Given the description of an element on the screen output the (x, y) to click on. 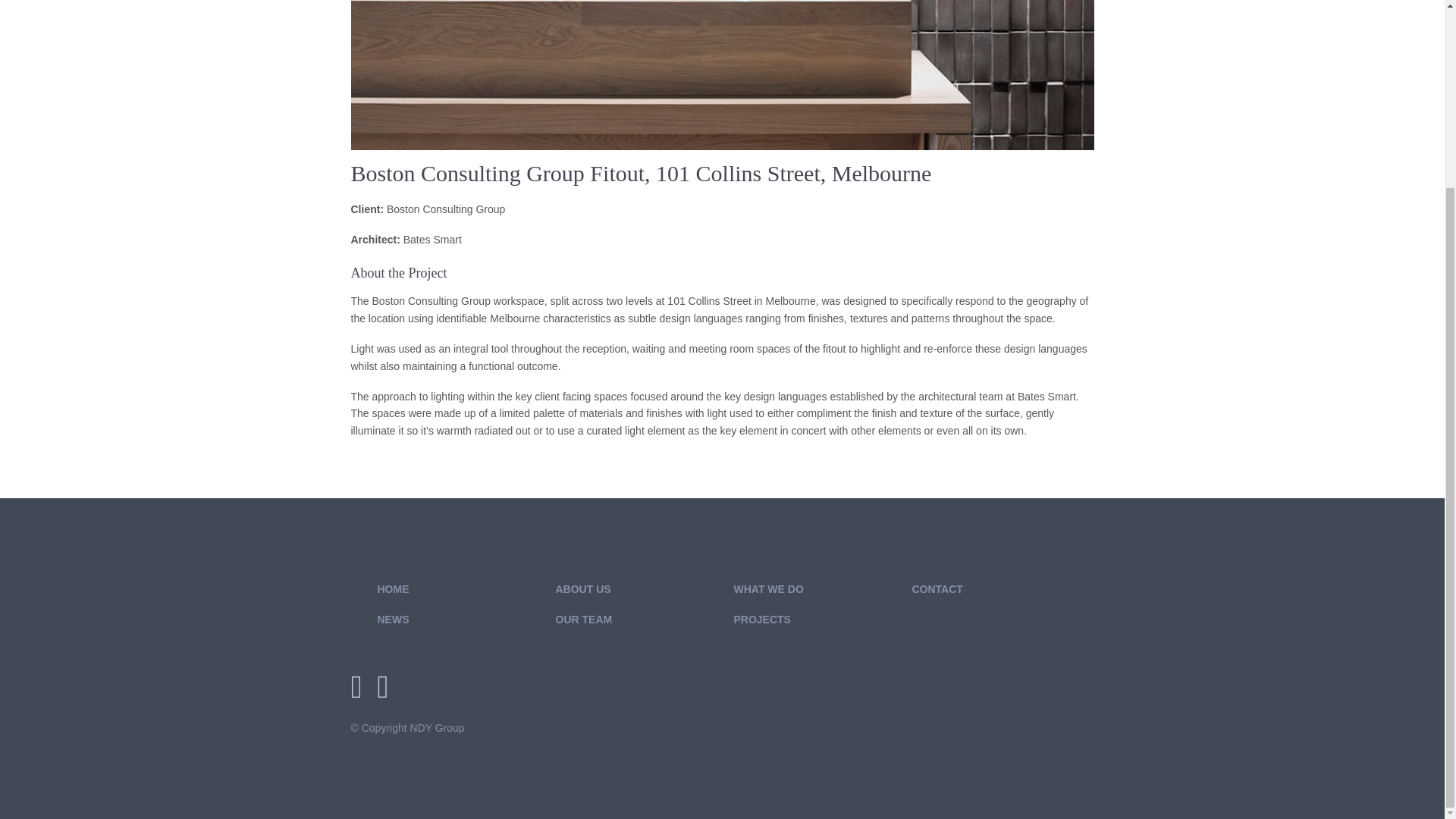
HOME (393, 589)
ABOUT US (582, 589)
CONTACT (936, 589)
WHAT WE DO (768, 589)
OUR TEAM (582, 619)
NEWS (393, 619)
PROJECTS (761, 619)
